Given the description of an element on the screen output the (x, y) to click on. 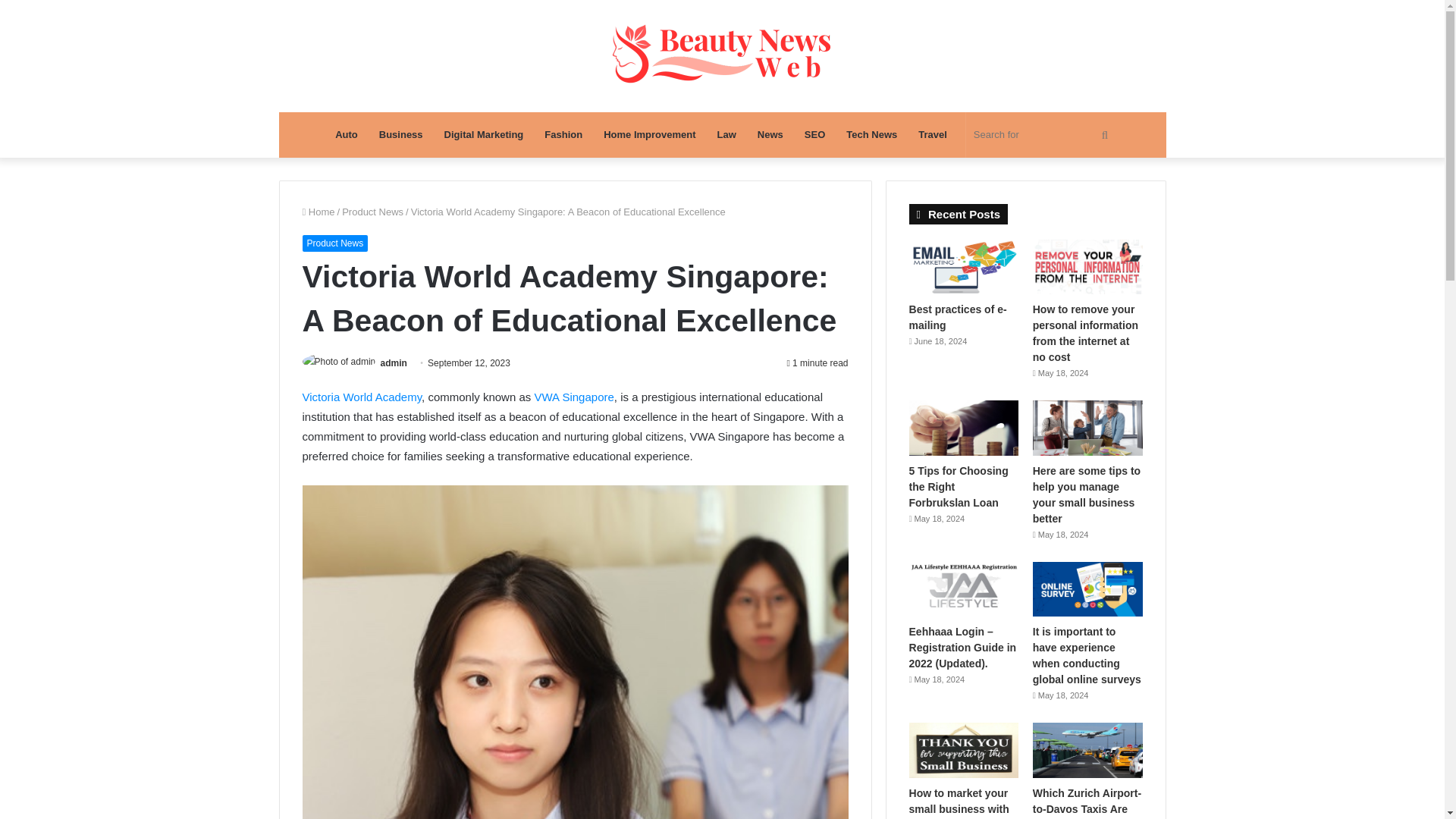
Victoria World Academy (361, 396)
Business (400, 135)
Search for (1042, 135)
SEO (814, 135)
Fashion (563, 135)
Beautynewsweb.com (721, 56)
VWA Singapore (573, 396)
Digital Marketing (483, 135)
News (769, 135)
Auto (346, 135)
Home Improvement (649, 135)
admin (393, 362)
admin (393, 362)
Home (317, 211)
Product News (334, 243)
